Given the description of an element on the screen output the (x, y) to click on. 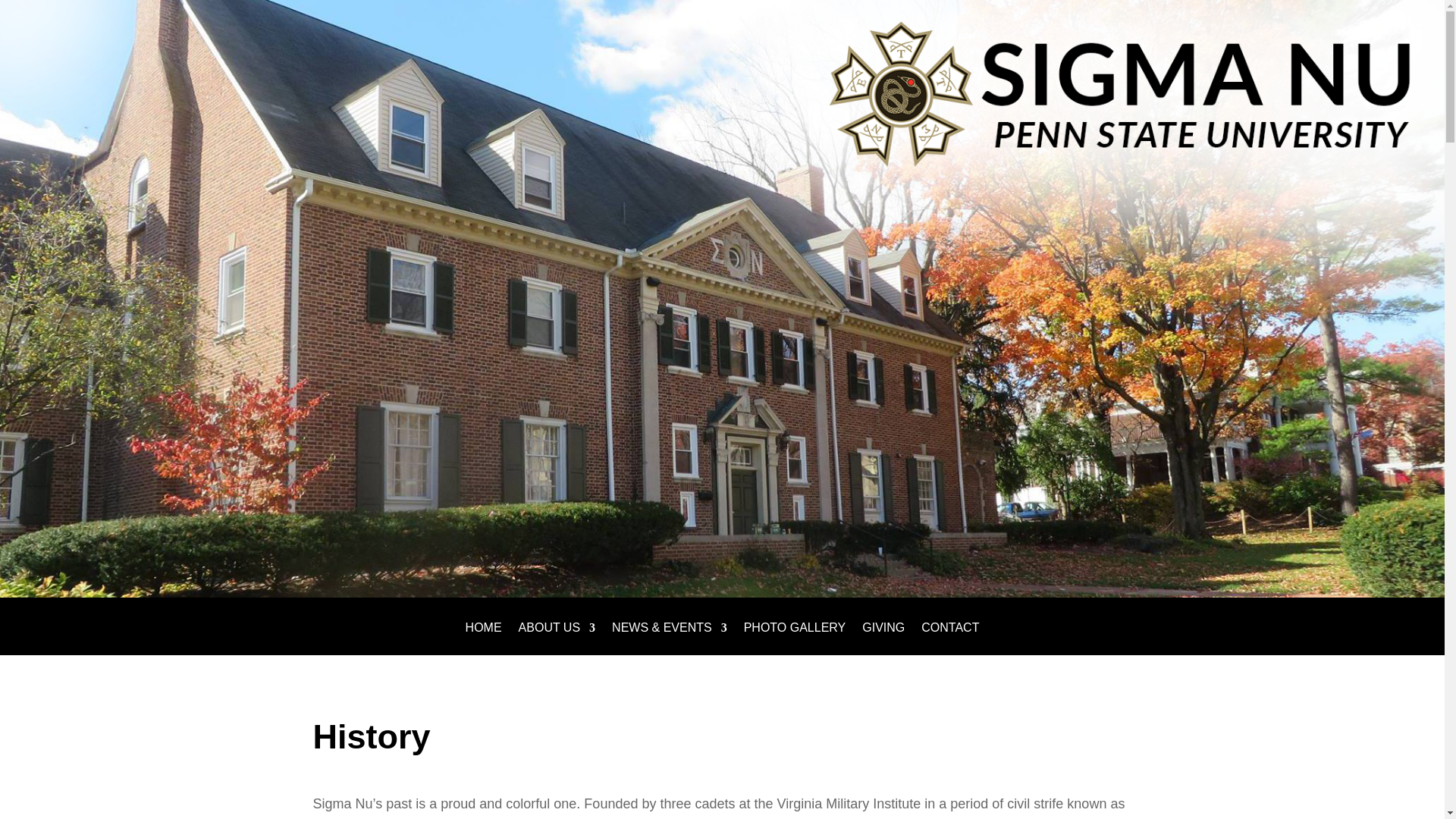
GIVING (882, 638)
ABOUT US (556, 638)
HOME (483, 638)
PHOTO GALLERY (794, 638)
CONTACT (949, 638)
